Given the description of an element on the screen output the (x, y) to click on. 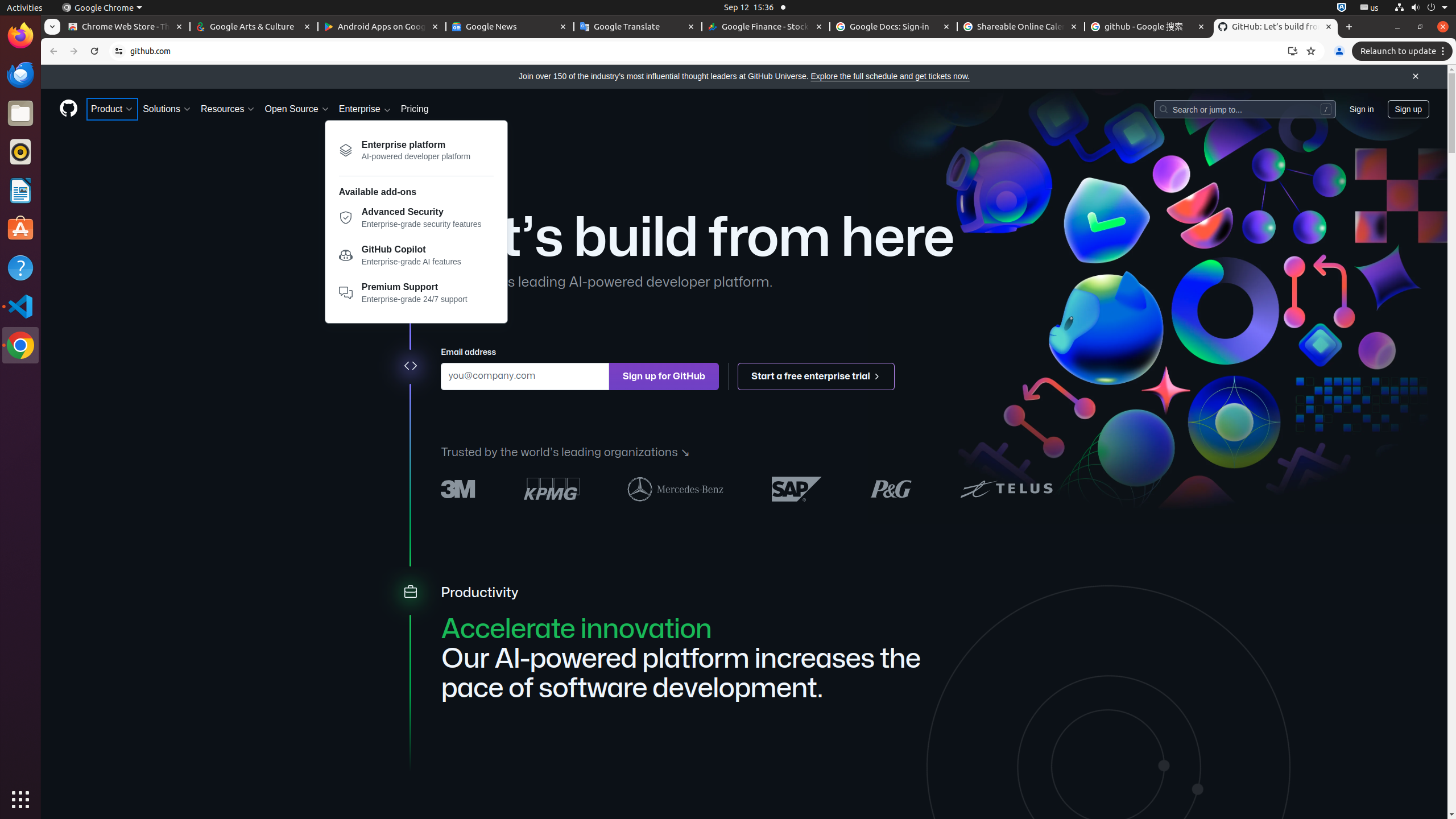
Shareable Online Calendar and Scheduling - Google Calendar - Memory usage - 88.4 MB Element type: page-tab (1020, 26)
:1.72/StatusNotifierItem Element type: menu (1341, 7)
Enterprise Element type: push-button (364, 108)
Back Element type: push-button (51, 50)
Skip to content Element type: link (40, 64)
